Given the description of an element on the screen output the (x, y) to click on. 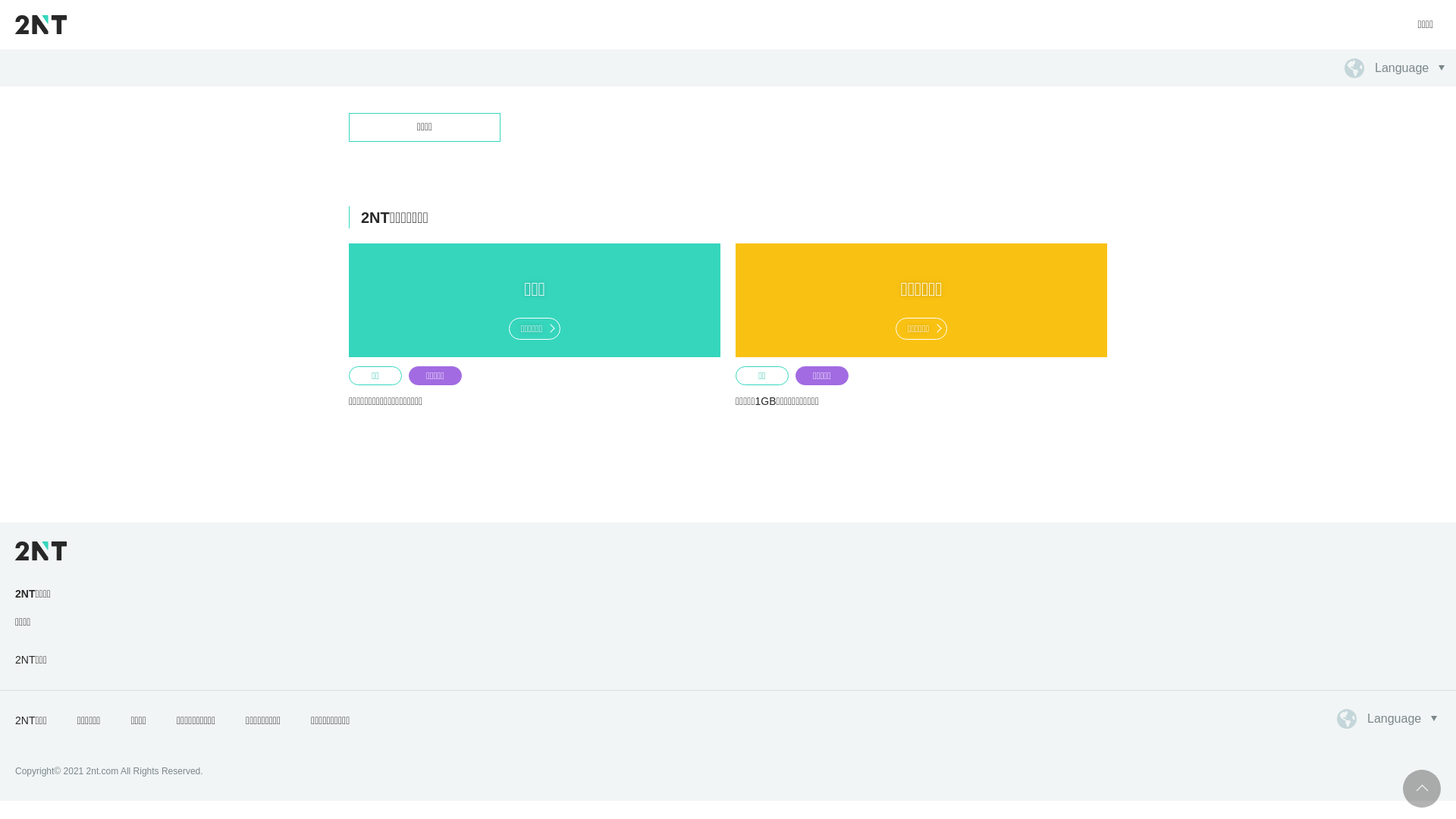
2NT Element type: hover (40, 24)
